Given the description of an element on the screen output the (x, y) to click on. 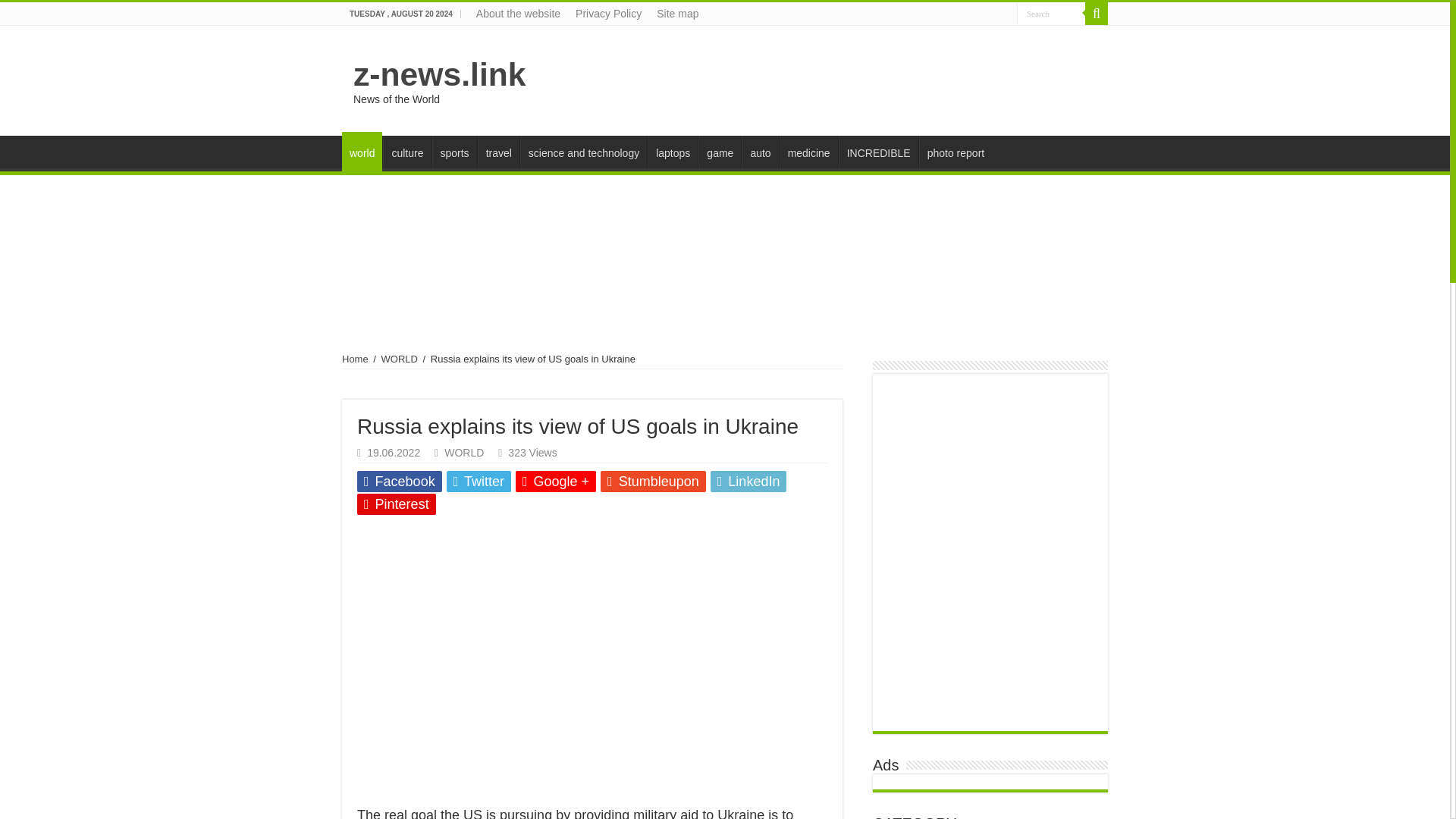
medicine (808, 151)
Stumbleupon (652, 481)
z-news.link (439, 74)
game (719, 151)
auto (759, 151)
Search (1050, 13)
About the website (517, 13)
Privacy Policy (608, 13)
Facebook (399, 481)
sports (454, 151)
